Given the description of an element on the screen output the (x, y) to click on. 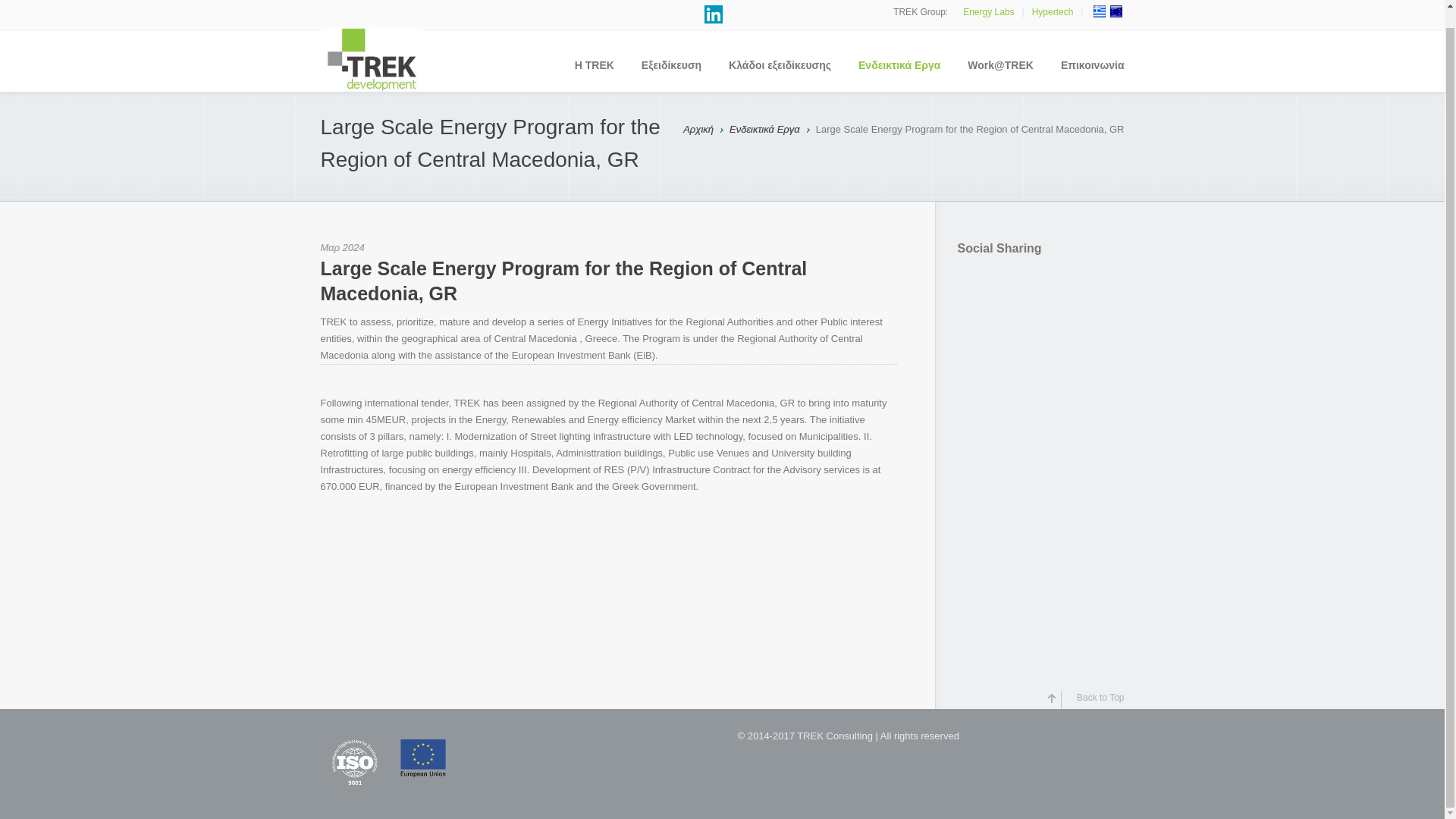
H TREK (593, 72)
Energy Labs (987, 11)
Back to Top (1092, 700)
Hypertech (1053, 11)
LinkedIn (712, 13)
